Given the description of an element on the screen output the (x, y) to click on. 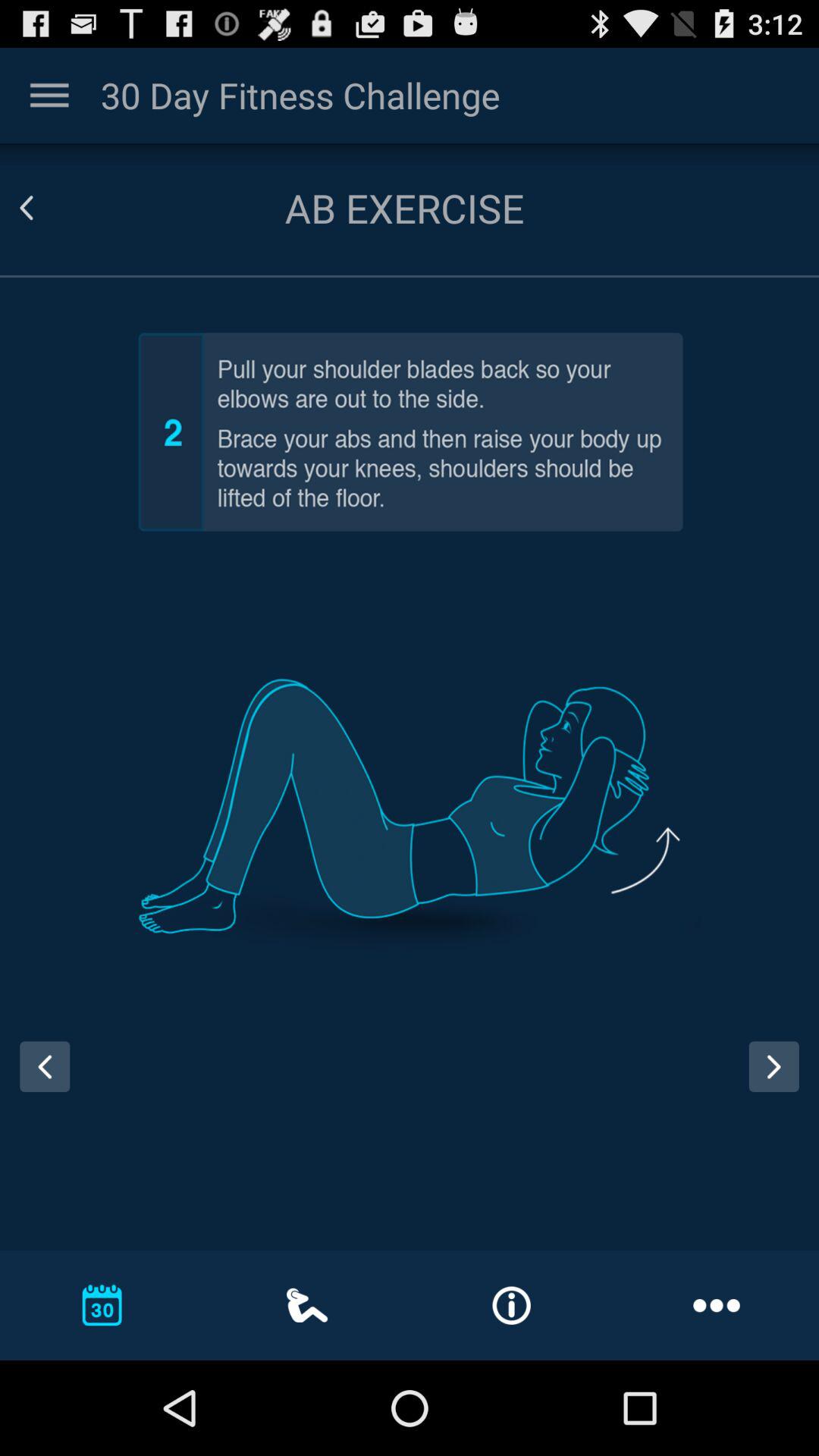
move onto next exercise instruction (774, 1066)
